Given the description of an element on the screen output the (x, y) to click on. 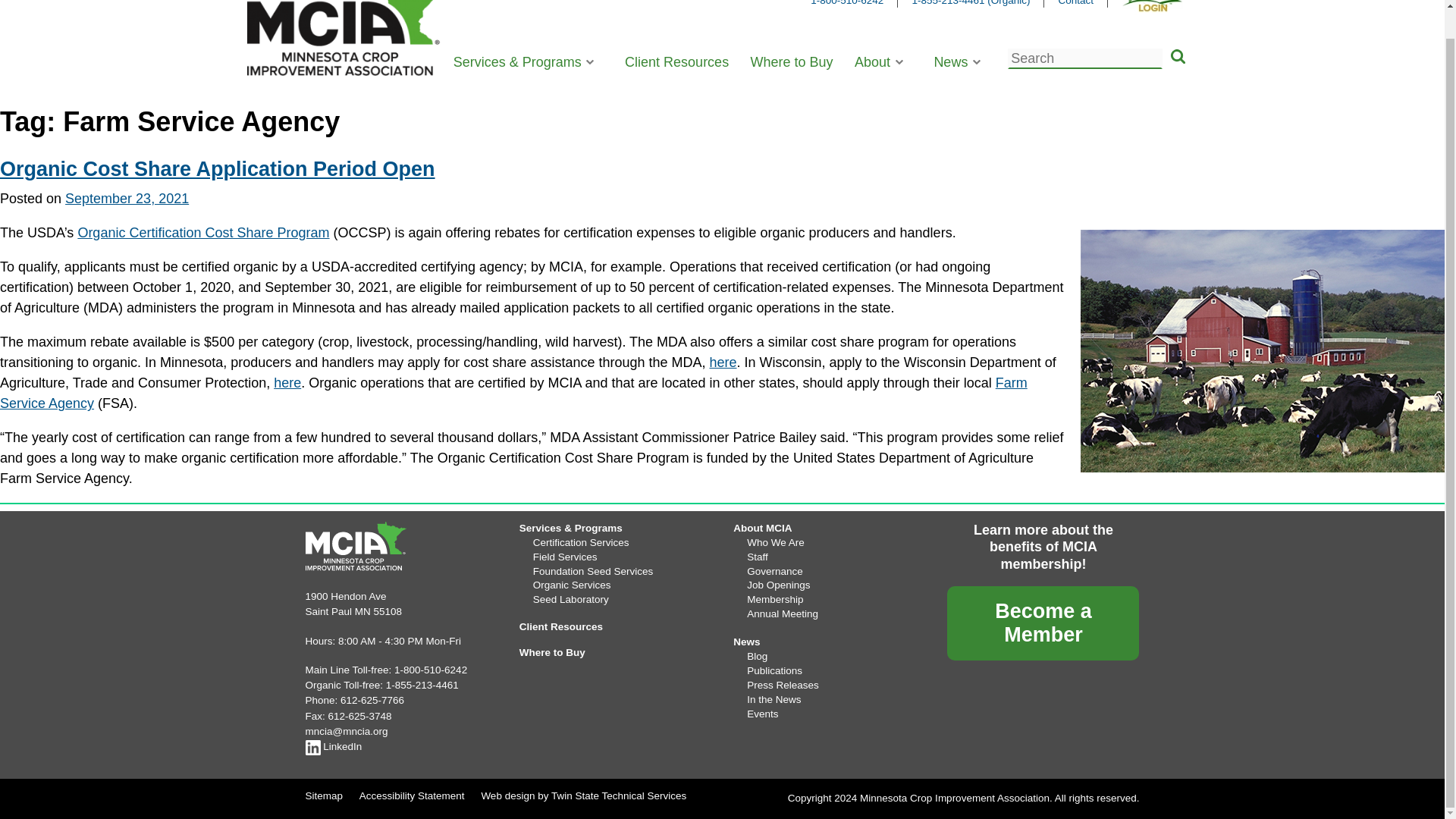
Search (1177, 57)
Where to Buy (790, 62)
Client Resources (676, 62)
1-800-510-6242 (847, 3)
Contact (1075, 3)
